Given the description of an element on the screen output the (x, y) to click on. 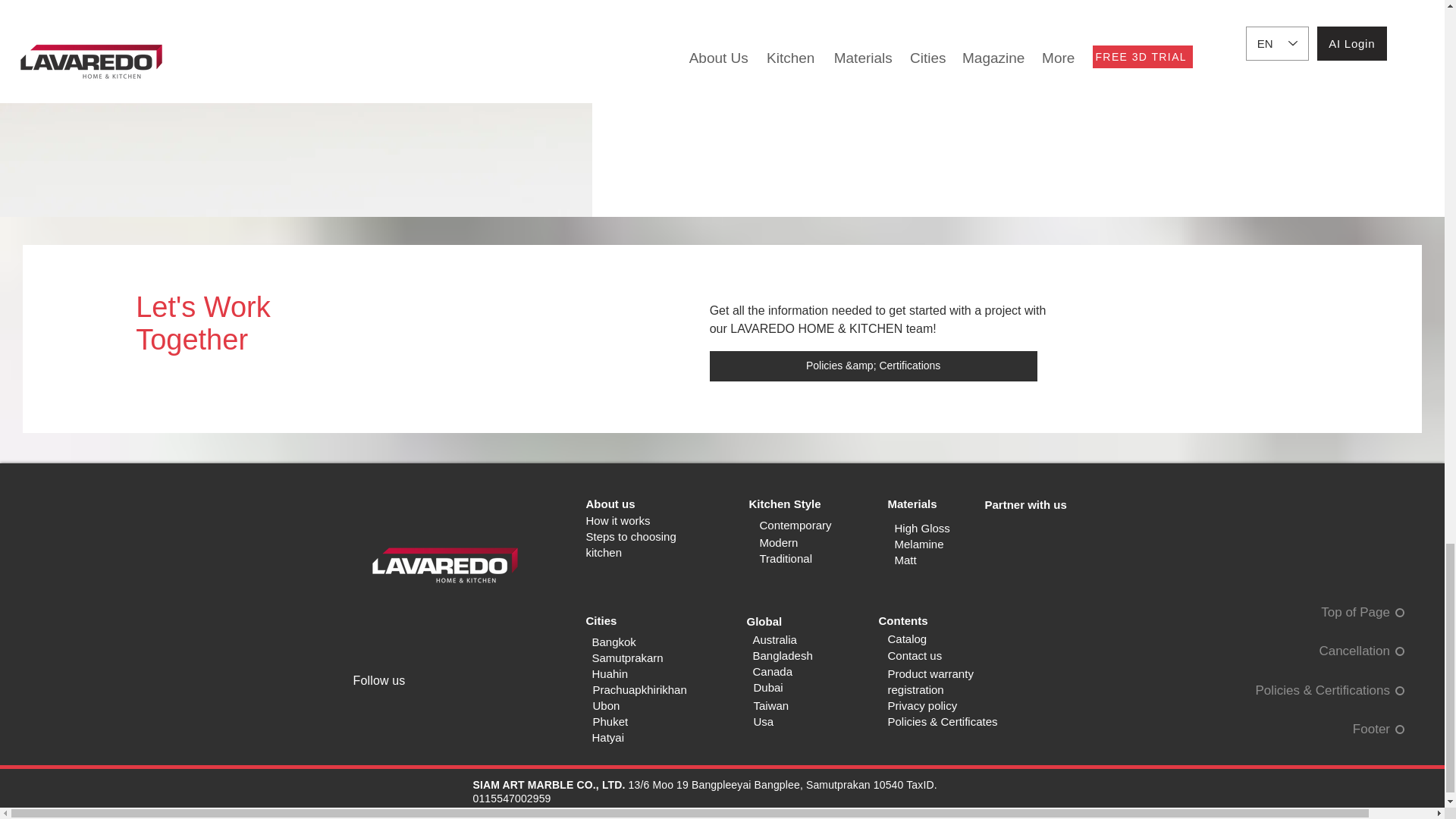
About us (609, 503)
Cities (600, 620)
How it works (617, 520)
Samutprakarn (626, 657)
Steps to choosing kitchen (630, 543)
Bangkok (612, 641)
Huahin (609, 673)
